Given the description of an element on the screen output the (x, y) to click on. 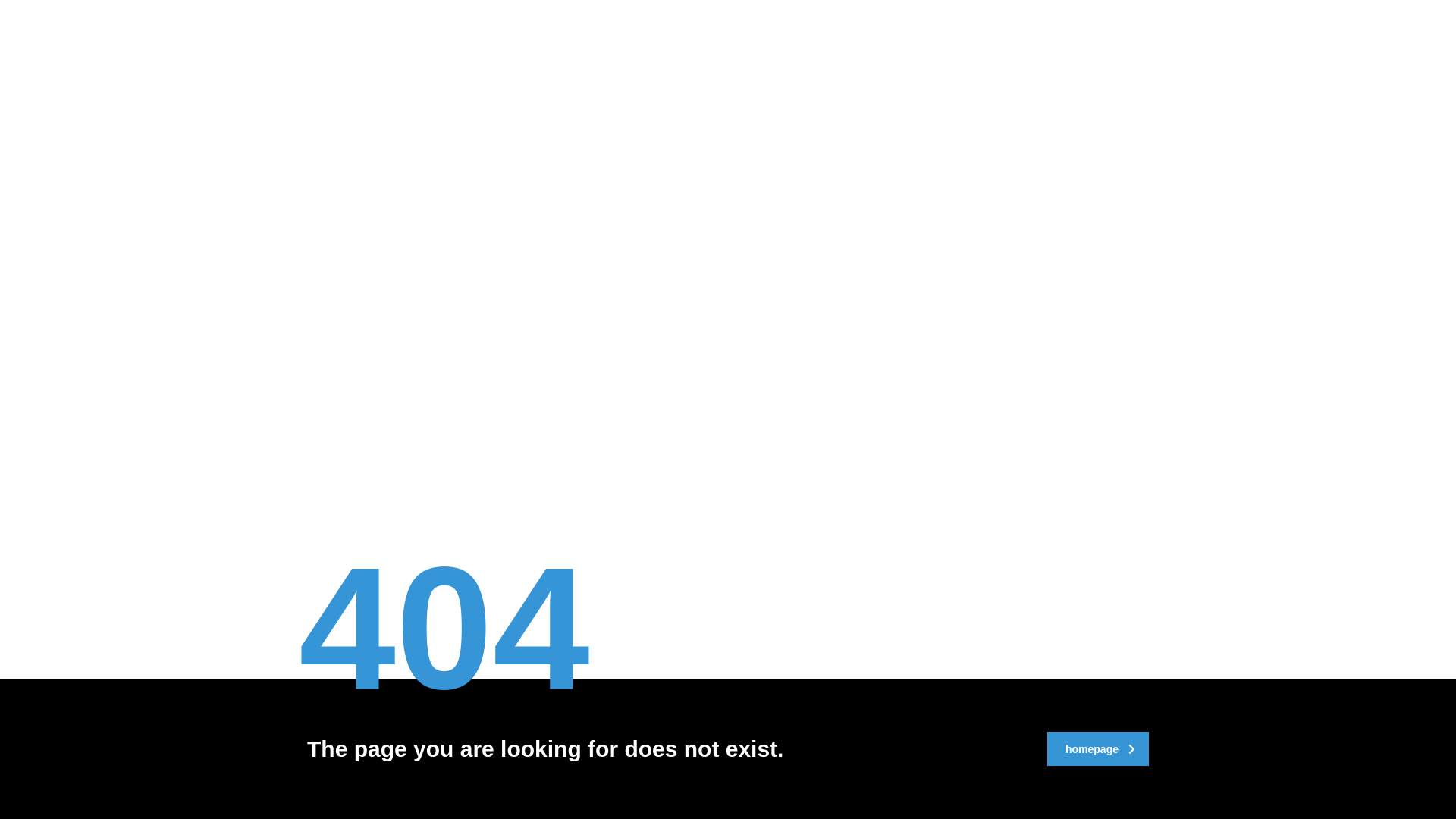
homepage Element type: text (1097, 748)
